Given the description of an element on the screen output the (x, y) to click on. 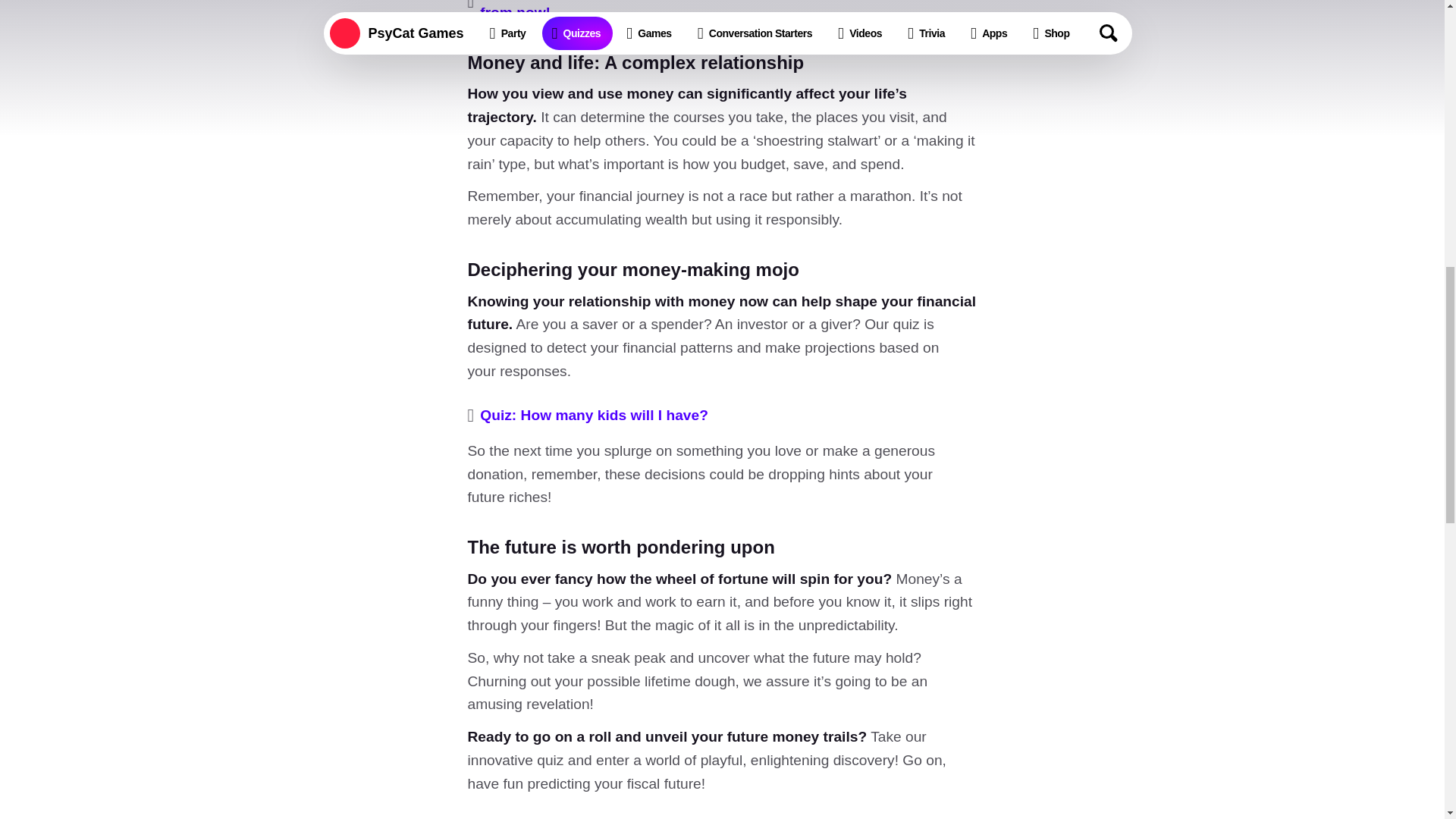
Quiz: How many kids will I have? (593, 415)
